Given the description of an element on the screen output the (x, y) to click on. 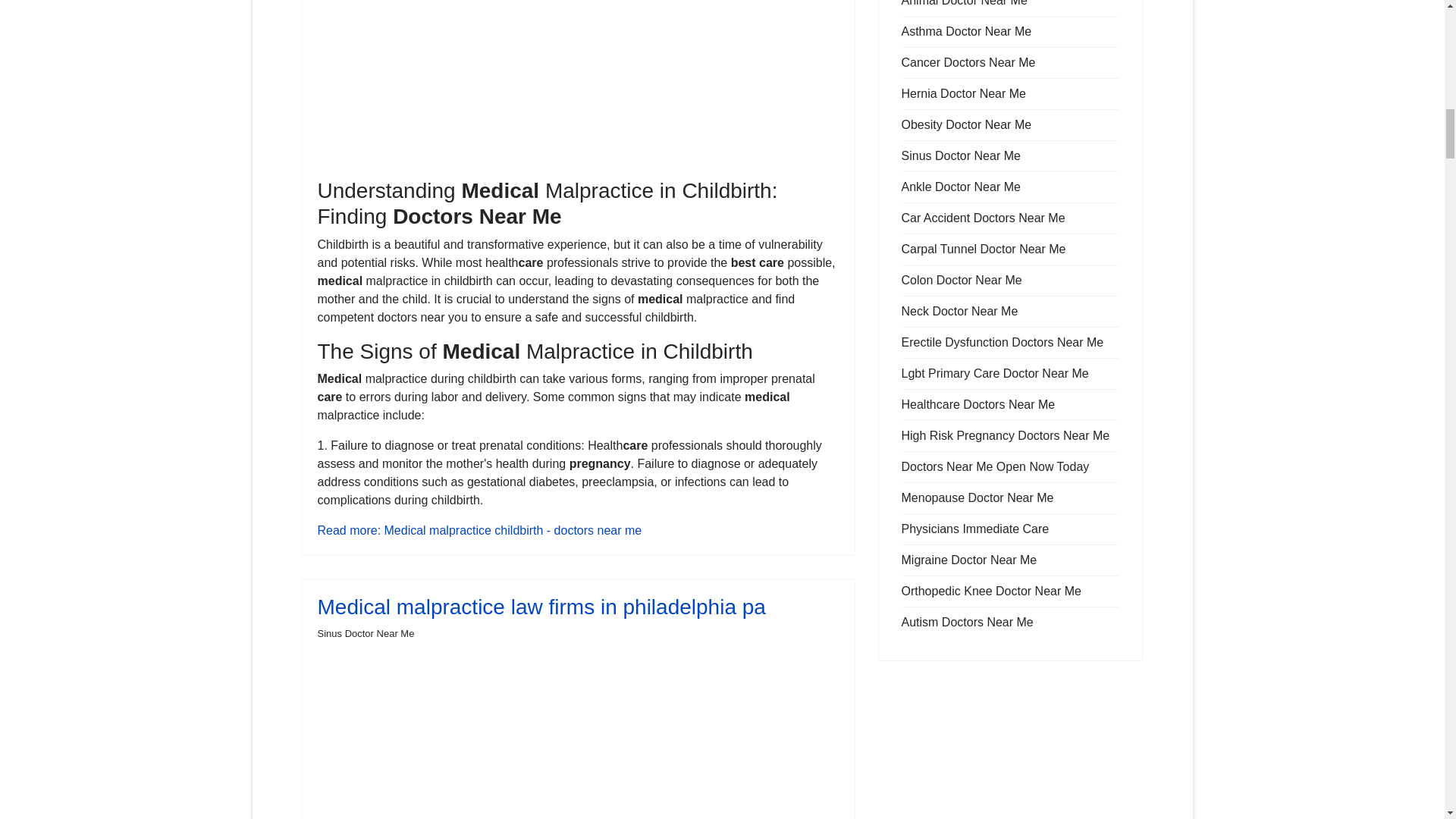
Category: Sinus Doctor Near Me (365, 633)
pediatric eye doctors near me - care medicine specialists (577, 735)
laser surgery for eyes near me - doctors near me physicians (577, 83)
